Given the description of an element on the screen output the (x, y) to click on. 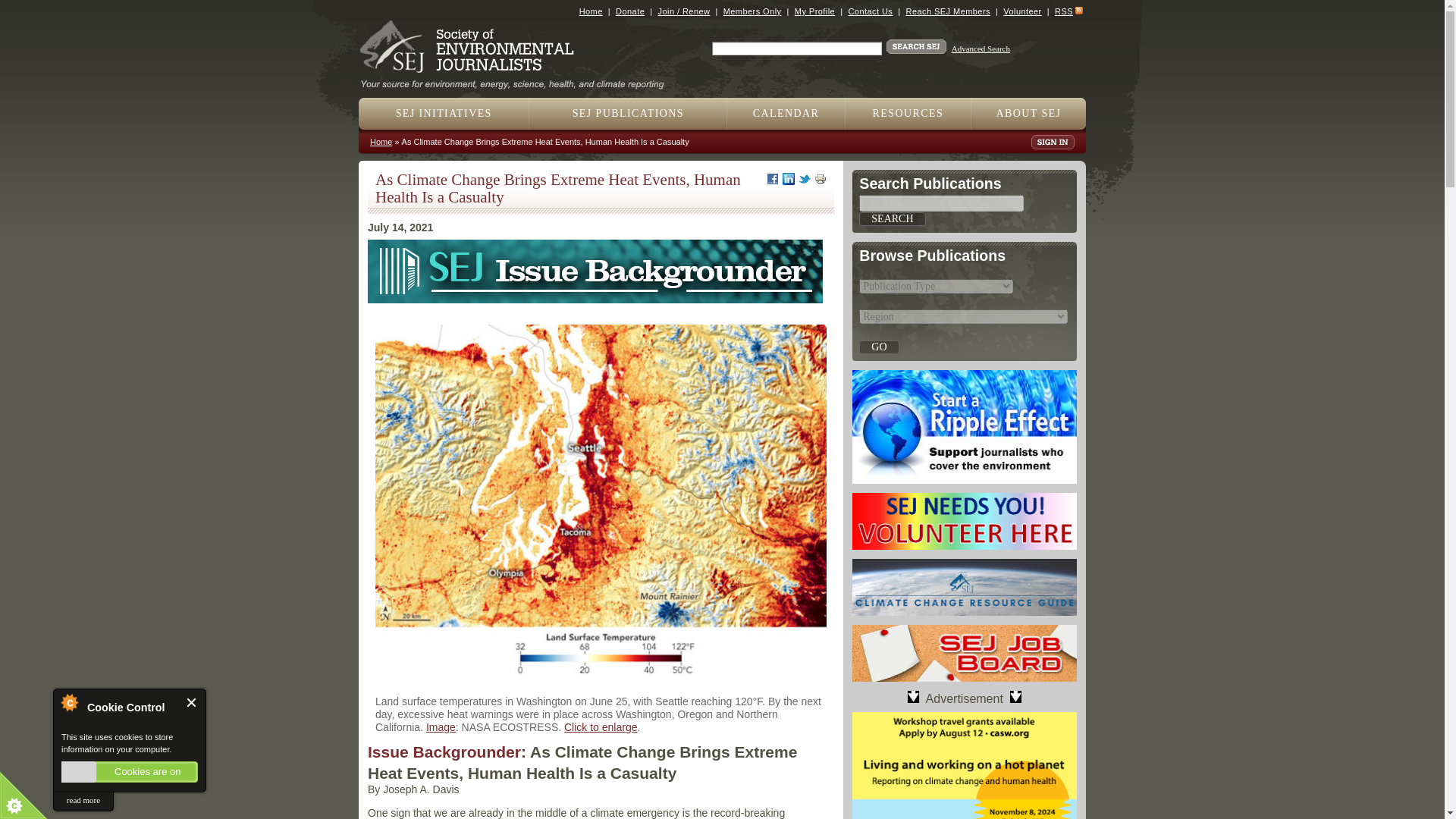
Home (590, 10)
Cookies are on (129, 772)
My Profile (814, 10)
Volunteer (1022, 10)
RSS (1063, 10)
read more (82, 801)
Reach SEJ Members (947, 10)
Enter the terms you wish to search for. (796, 48)
SEJ PUBLICATIONS (627, 113)
SEJ INITIATIVES (443, 113)
